Given the description of an element on the screen output the (x, y) to click on. 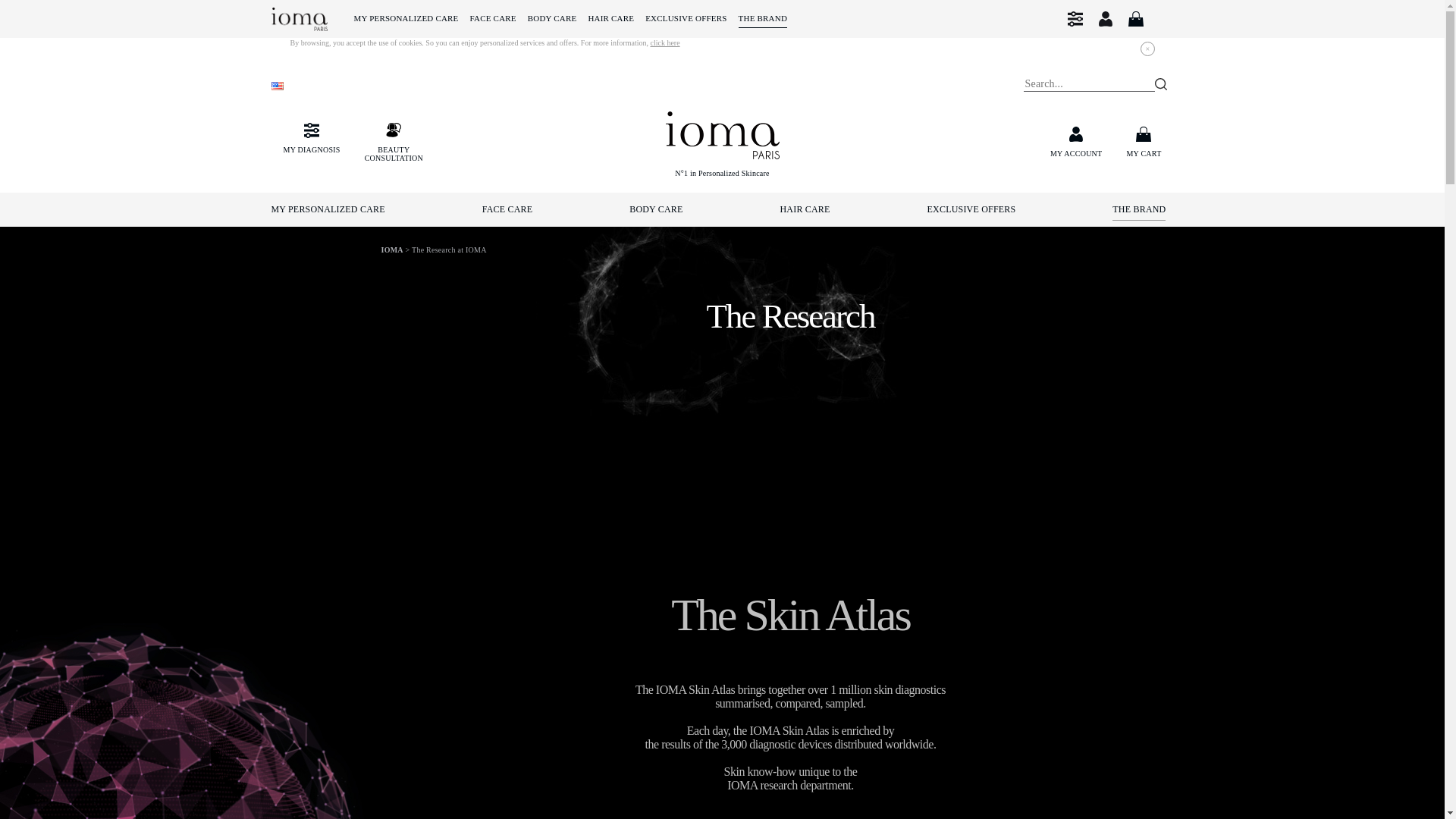
Search (1160, 83)
MY PERSONALIZED CARE (405, 17)
FACE CARE (493, 17)
THE BRAND (762, 17)
MY ACCOUNT (1075, 142)
MY CART (1142, 142)
My Diagnosis (1075, 18)
EXCLUSIVE OFFERS (685, 17)
click here (664, 42)
BODY CARE (655, 209)
MY DIAGNOSIS (311, 137)
BODY CARE (551, 17)
MY PERSONALIZED CARE (331, 209)
HAIR CARE (394, 142)
